Given the description of an element on the screen output the (x, y) to click on. 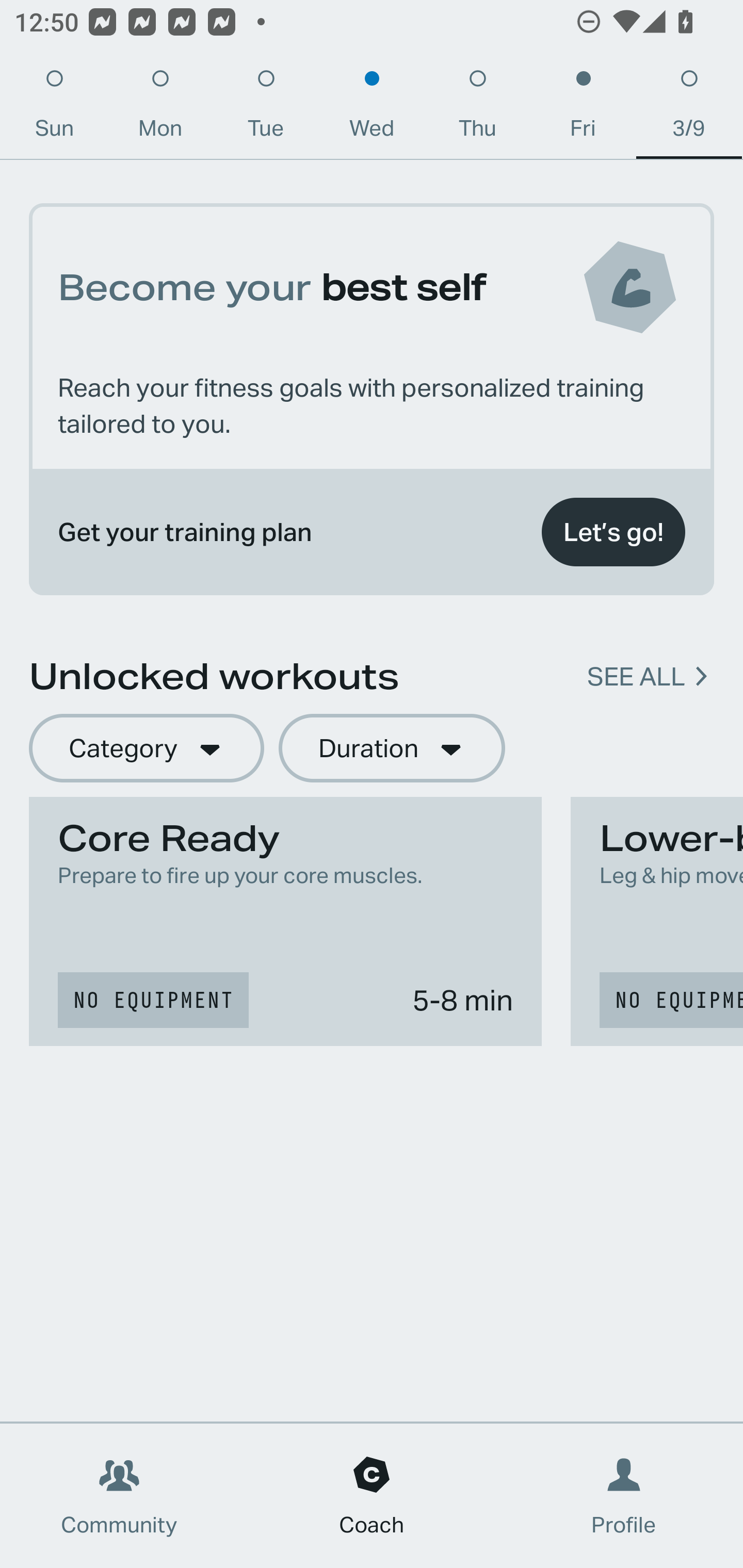
Sun (53, 108)
Mon (159, 108)
Tue (265, 108)
Wed (371, 108)
Thu (477, 108)
Fri (583, 108)
3/9 (689, 108)
Let’s go! (613, 532)
SEE ALL (635, 676)
Category (146, 748)
Duration (391, 748)
Community (119, 1495)
Profile (624, 1495)
